Given the description of an element on the screen output the (x, y) to click on. 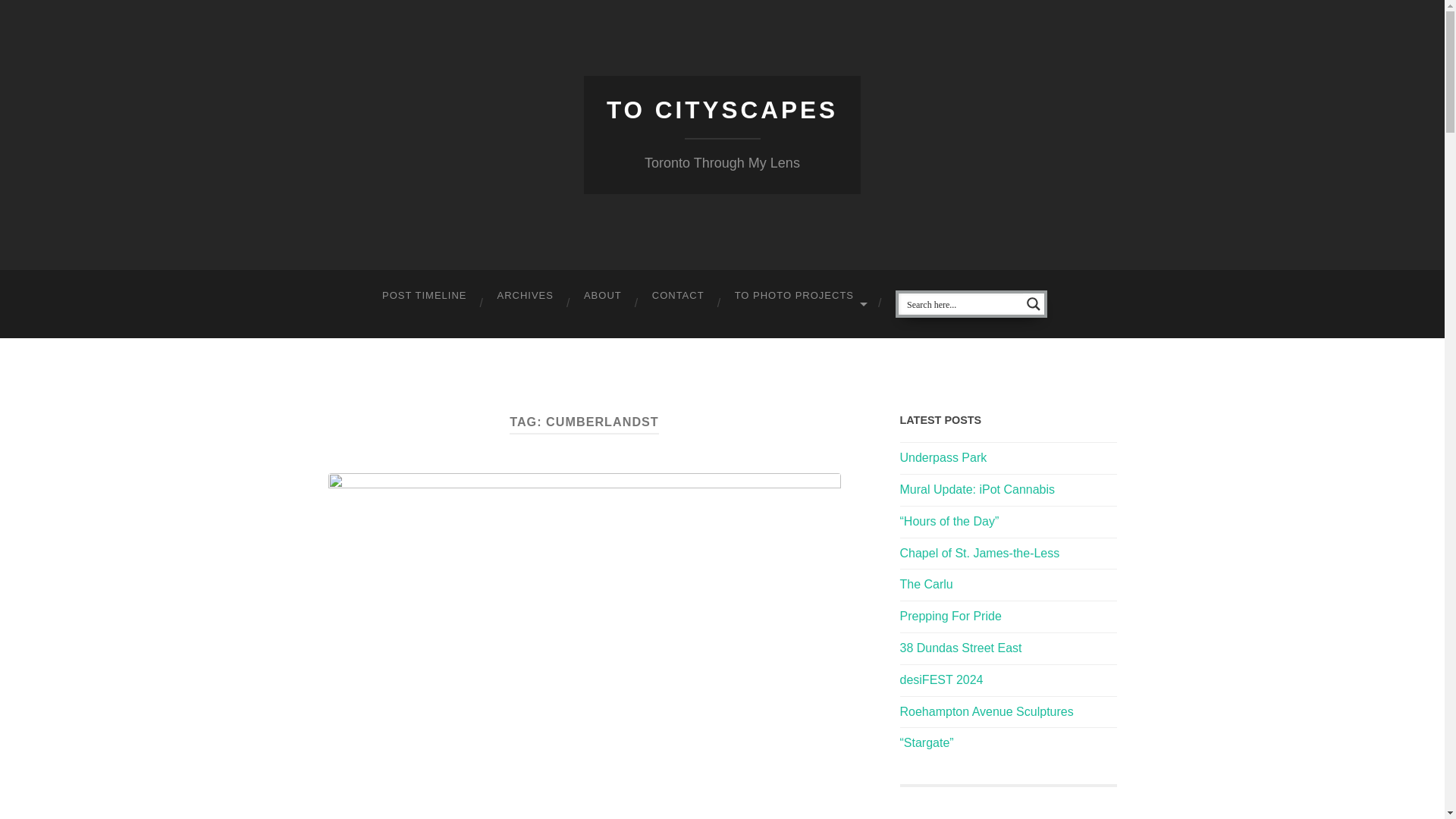
TO CITYSCAPES (722, 109)
Chapel of St. James-the-Less (979, 553)
TO PHOTO PROJECTS (799, 295)
ABOUT (603, 295)
Underpass Park (943, 457)
POST TIMELINE (423, 295)
The Carlu (925, 584)
ARCHIVES (524, 295)
Mural Update: iPot Cannabis (976, 489)
CONTACT (678, 295)
